Given the description of an element on the screen output the (x, y) to click on. 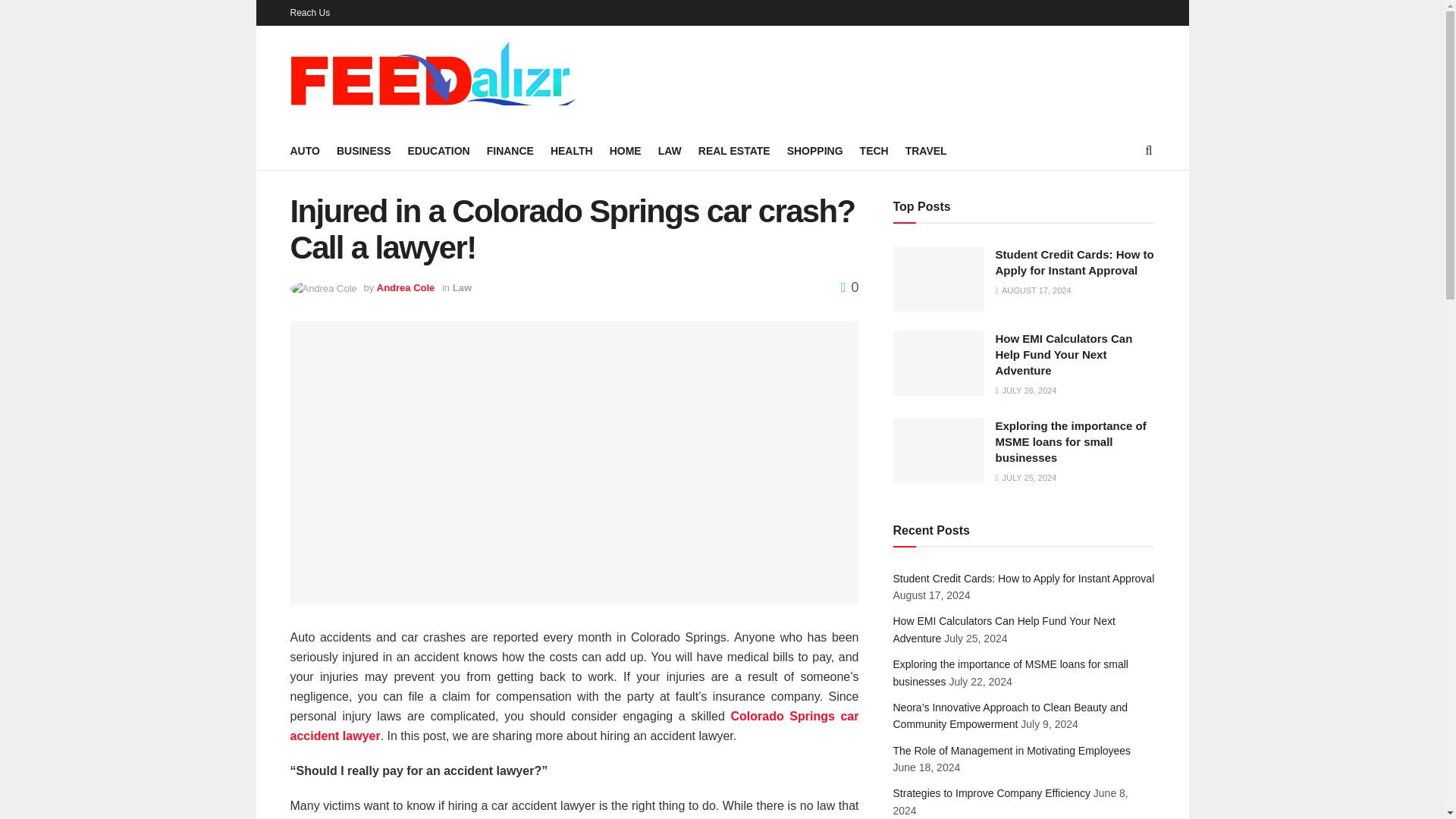
Colorado Springs car accident lawyer (574, 726)
TECH (874, 150)
SHOPPING (815, 150)
Law (461, 287)
AUTO (303, 150)
EDUCATION (438, 150)
HOME (626, 150)
0 (850, 287)
FINANCE (510, 150)
Andrea Cole (406, 287)
